Given the description of an element on the screen output the (x, y) to click on. 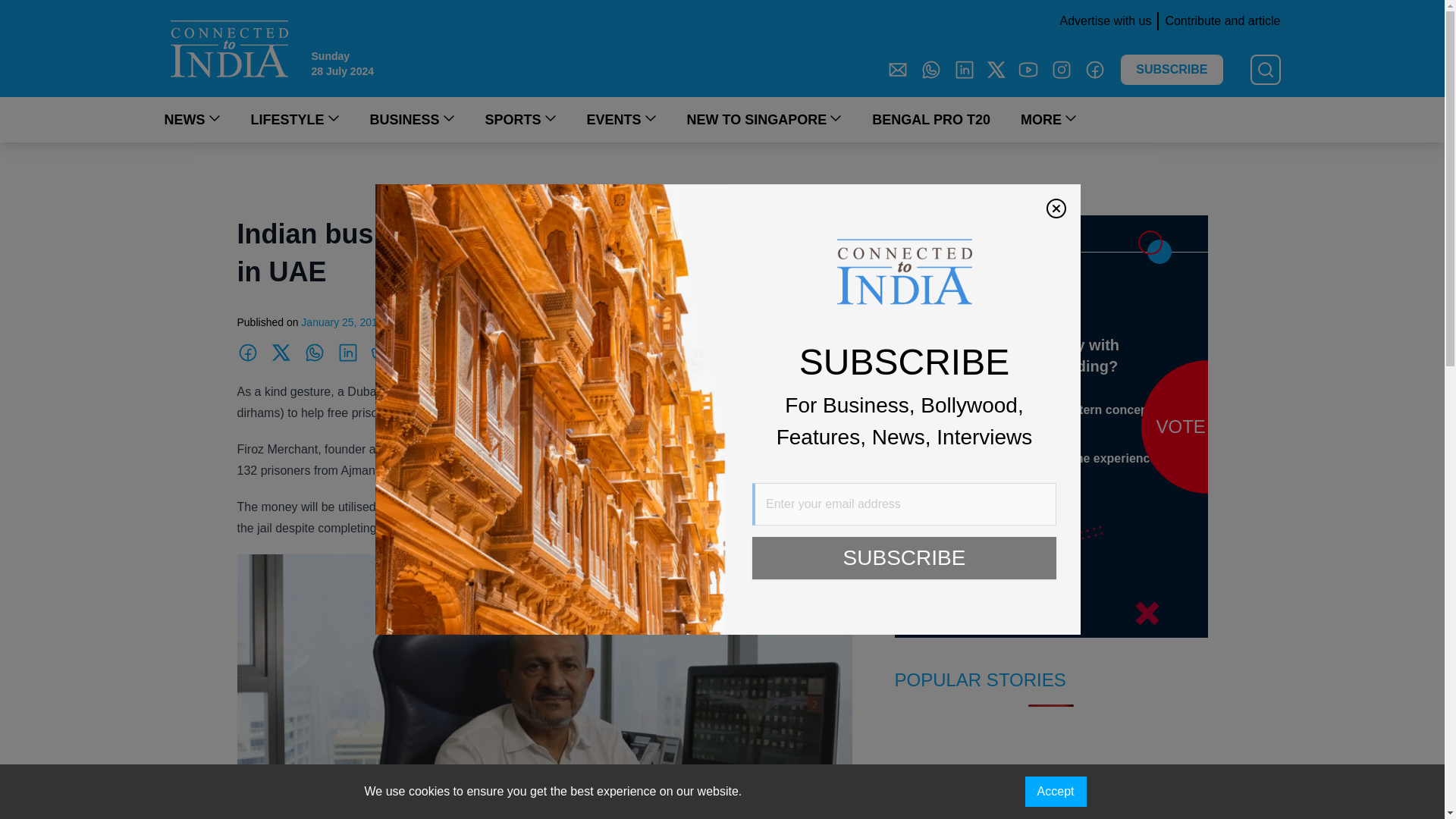
Instagram (1061, 69)
View Results Of This Poll (966, 518)
SUBSCRIBE (1172, 69)
Search (19, 9)
BUSINESS (411, 119)
NEW TO SINGAPORE (765, 119)
EVENTS (621, 119)
Tweeter (996, 69)
Youtube (1028, 69)
Facebook (1094, 69)
LinkedIn (964, 69)
NEWS (191, 119)
Advertise with us (1101, 21)
41 (937, 490)
